Given the description of an element on the screen output the (x, y) to click on. 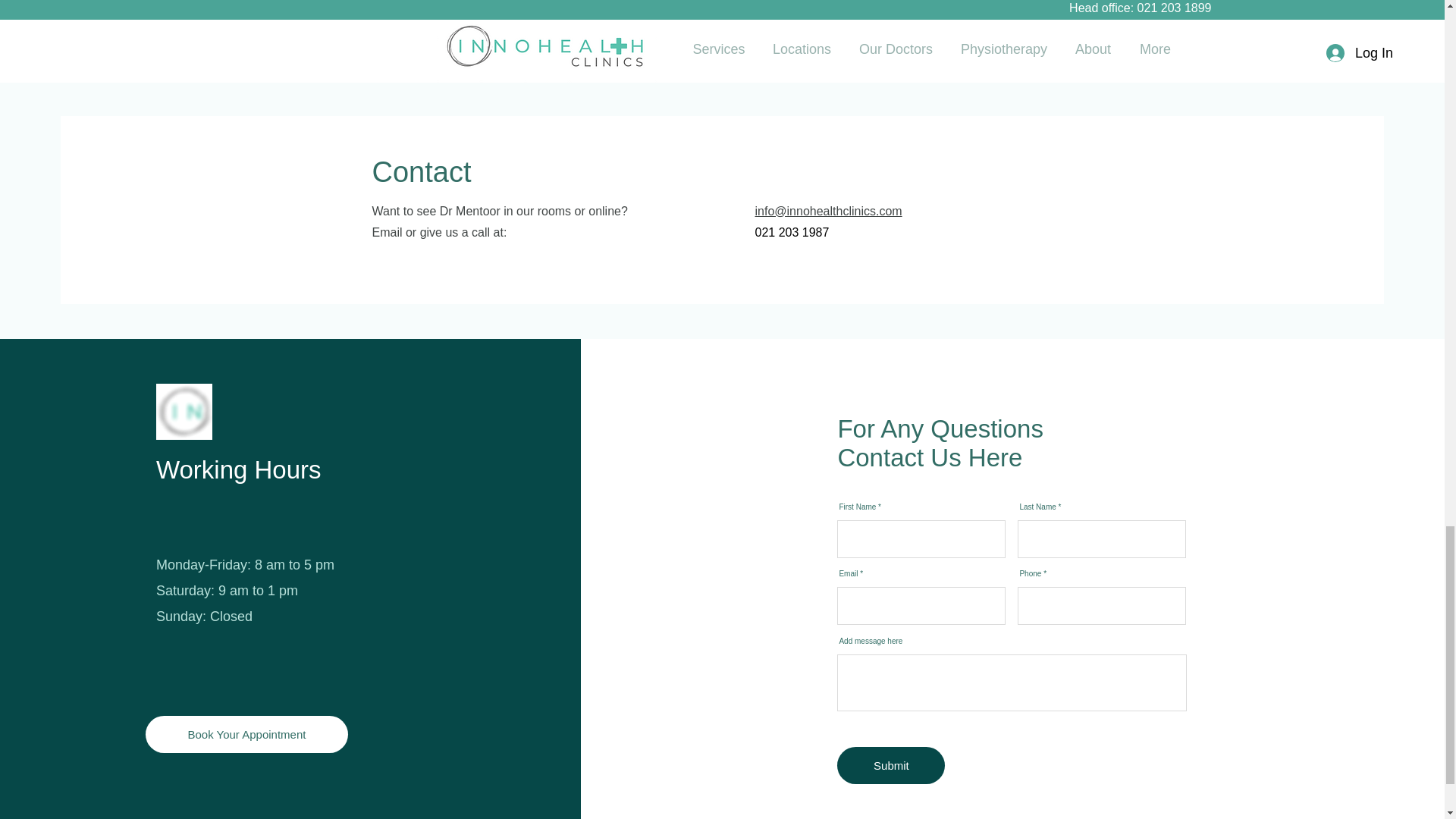
Book Your Appointment (246, 733)
Innohealth icon.png (183, 411)
Submit (890, 764)
